Given the description of an element on the screen output the (x, y) to click on. 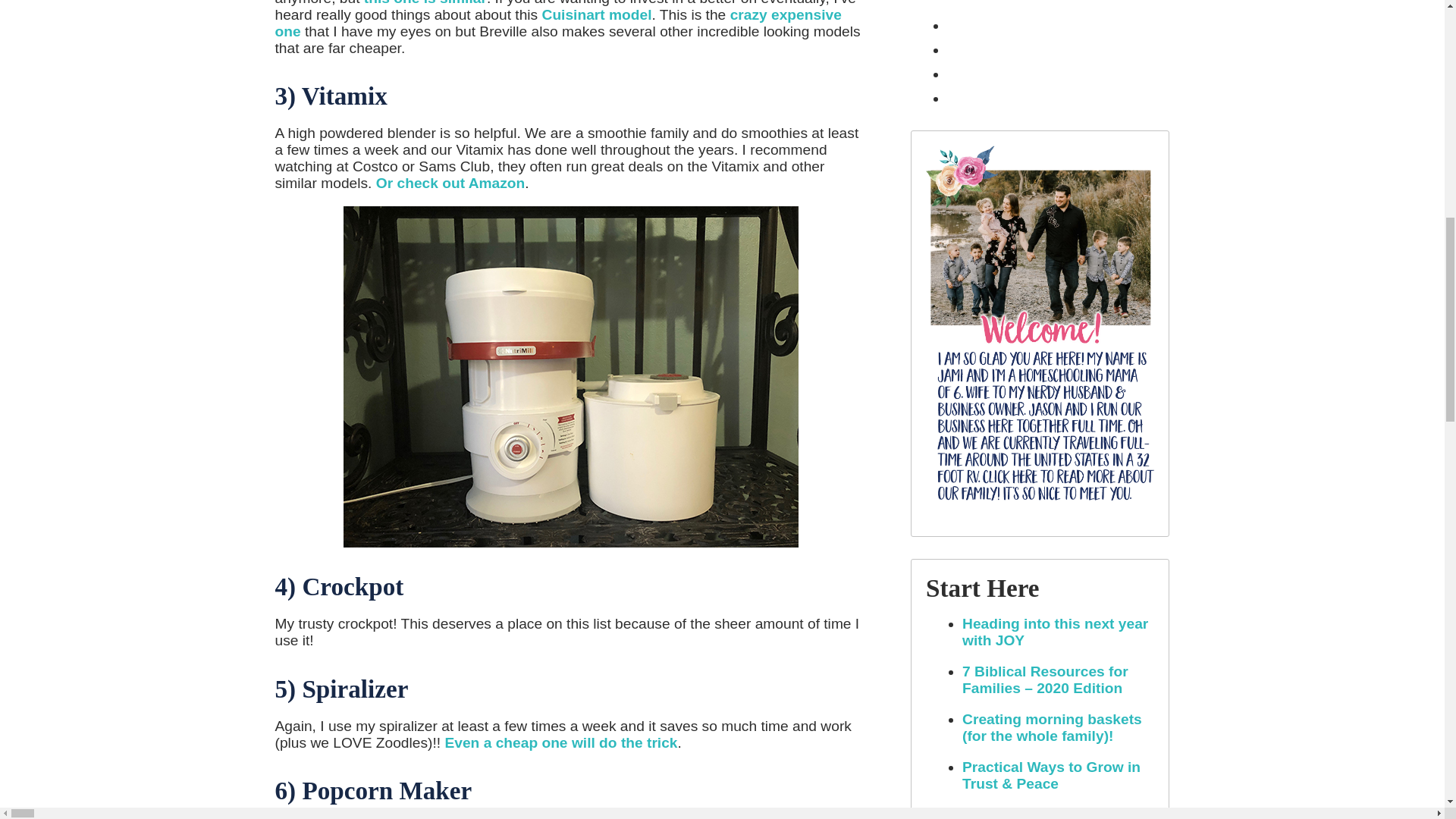
Or check out Amazon (450, 182)
crazy expensive one (558, 22)
Even a cheap one will do the trick (560, 742)
Cuisinart model (596, 14)
this one is similar (425, 2)
